Given the description of an element on the screen output the (x, y) to click on. 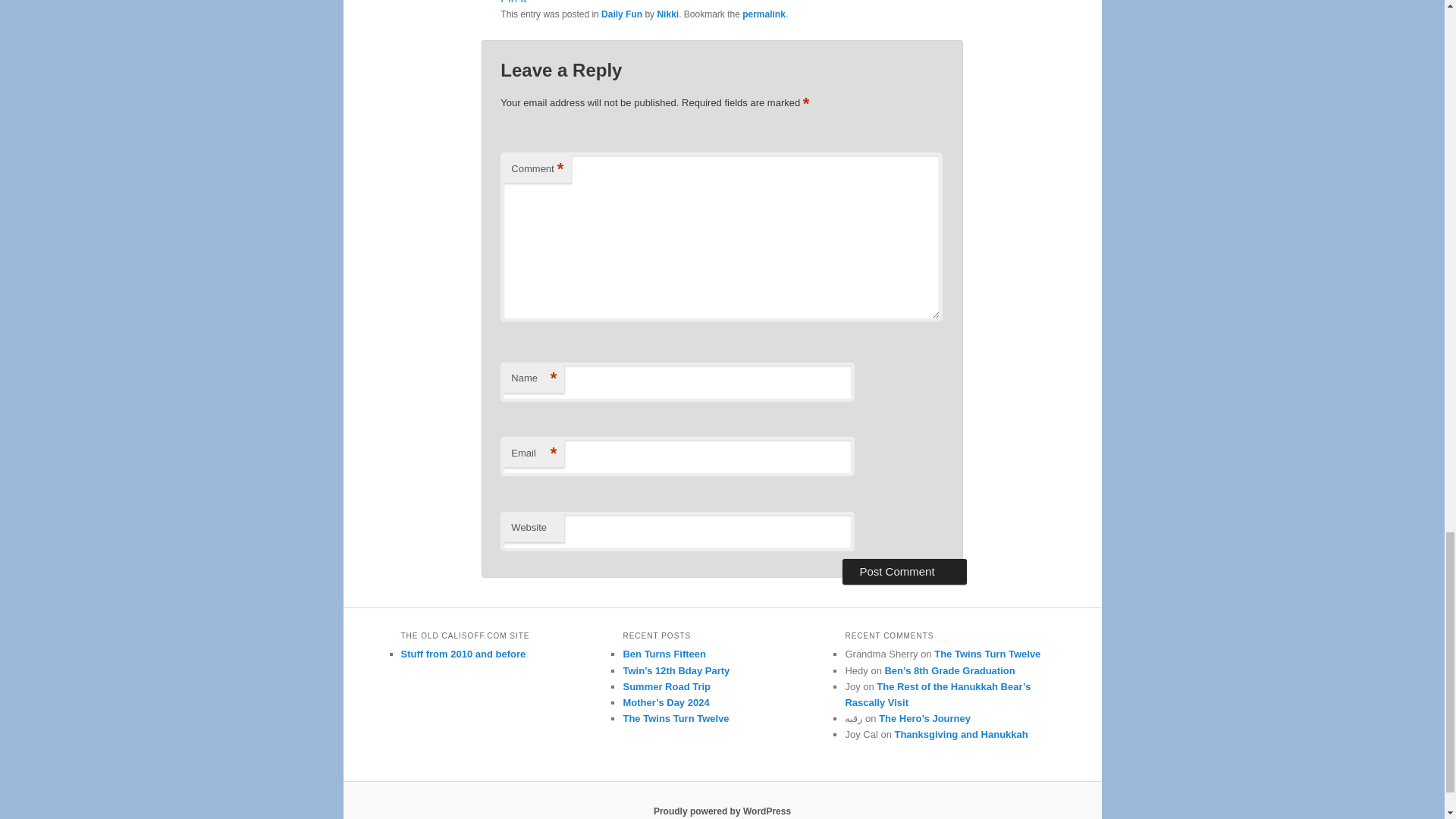
Permalink to Passover 2016 (764, 14)
Post Comment (904, 571)
Semantic Personal Publishing Platform (721, 810)
